Given the description of an element on the screen output the (x, y) to click on. 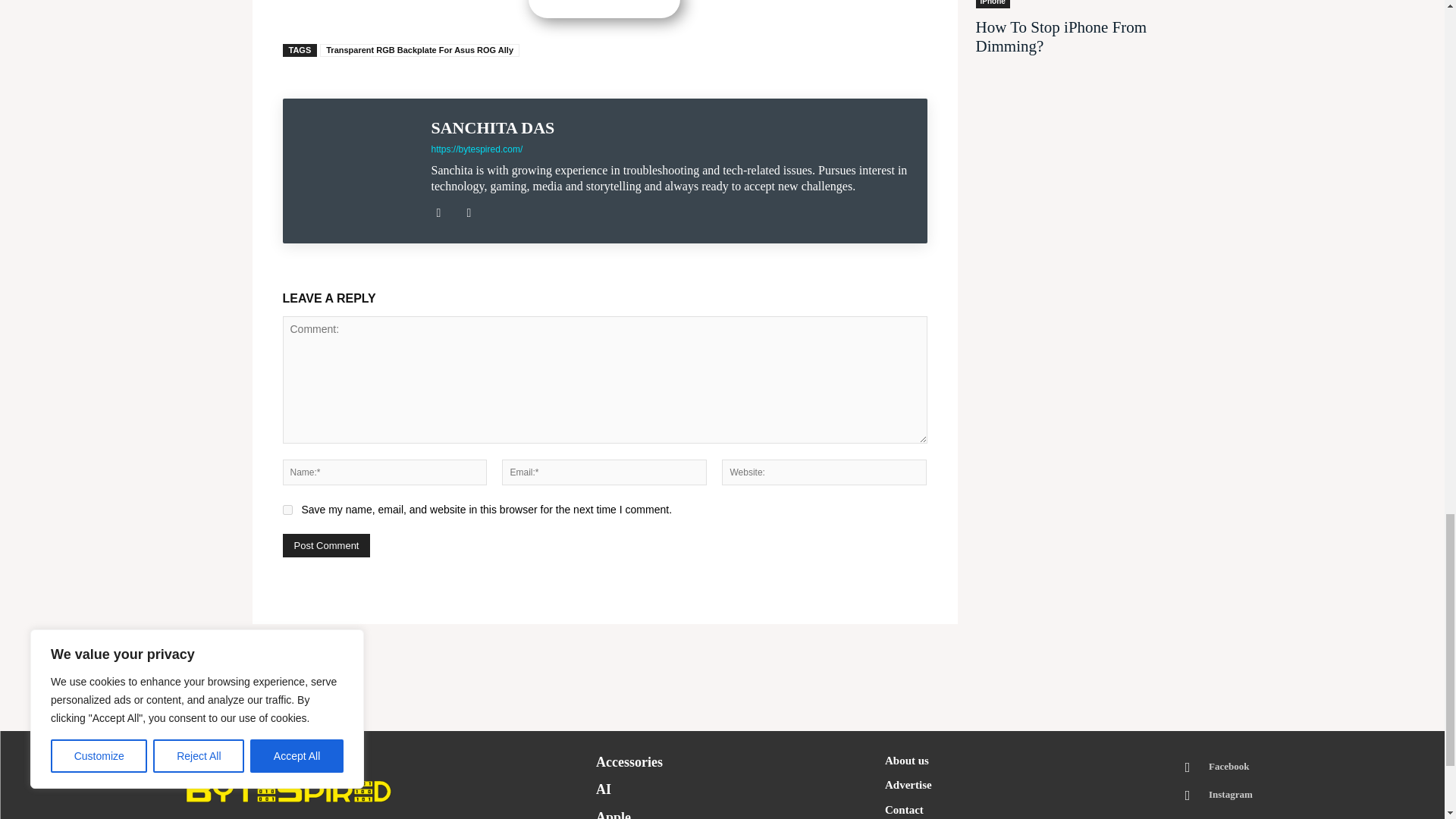
yes (287, 510)
Post Comment (325, 545)
